Given the description of an element on the screen output the (x, y) to click on. 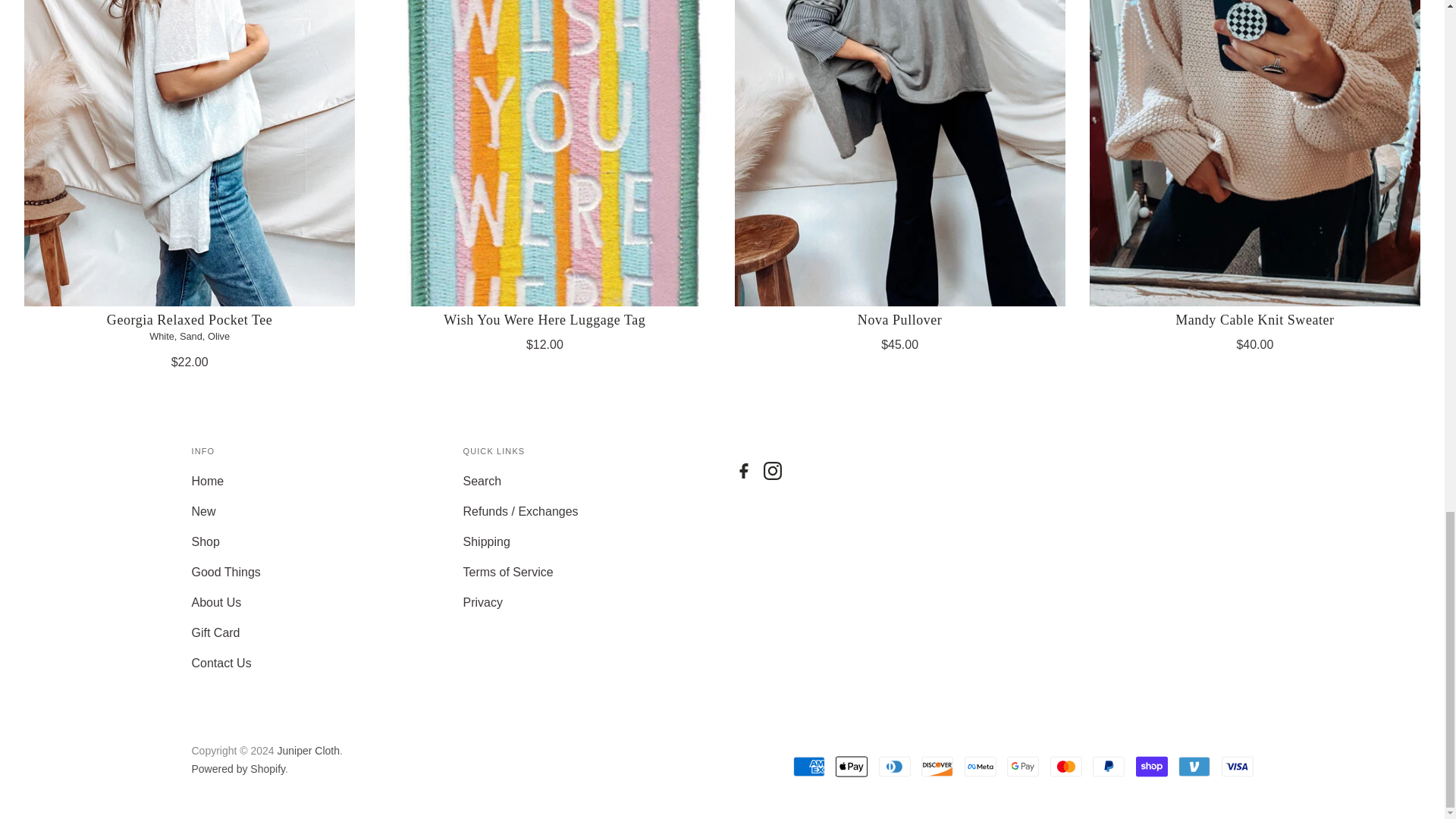
Visa (1236, 766)
PayPal (1108, 766)
Google Pay (1023, 766)
Diners Club (895, 766)
Discover (937, 766)
Meta Pay (979, 766)
Shop Pay (1151, 766)
American Express (809, 766)
Venmo (1193, 766)
Mastercard (1065, 766)
Apple Pay (851, 766)
